Given the description of an element on the screen output the (x, y) to click on. 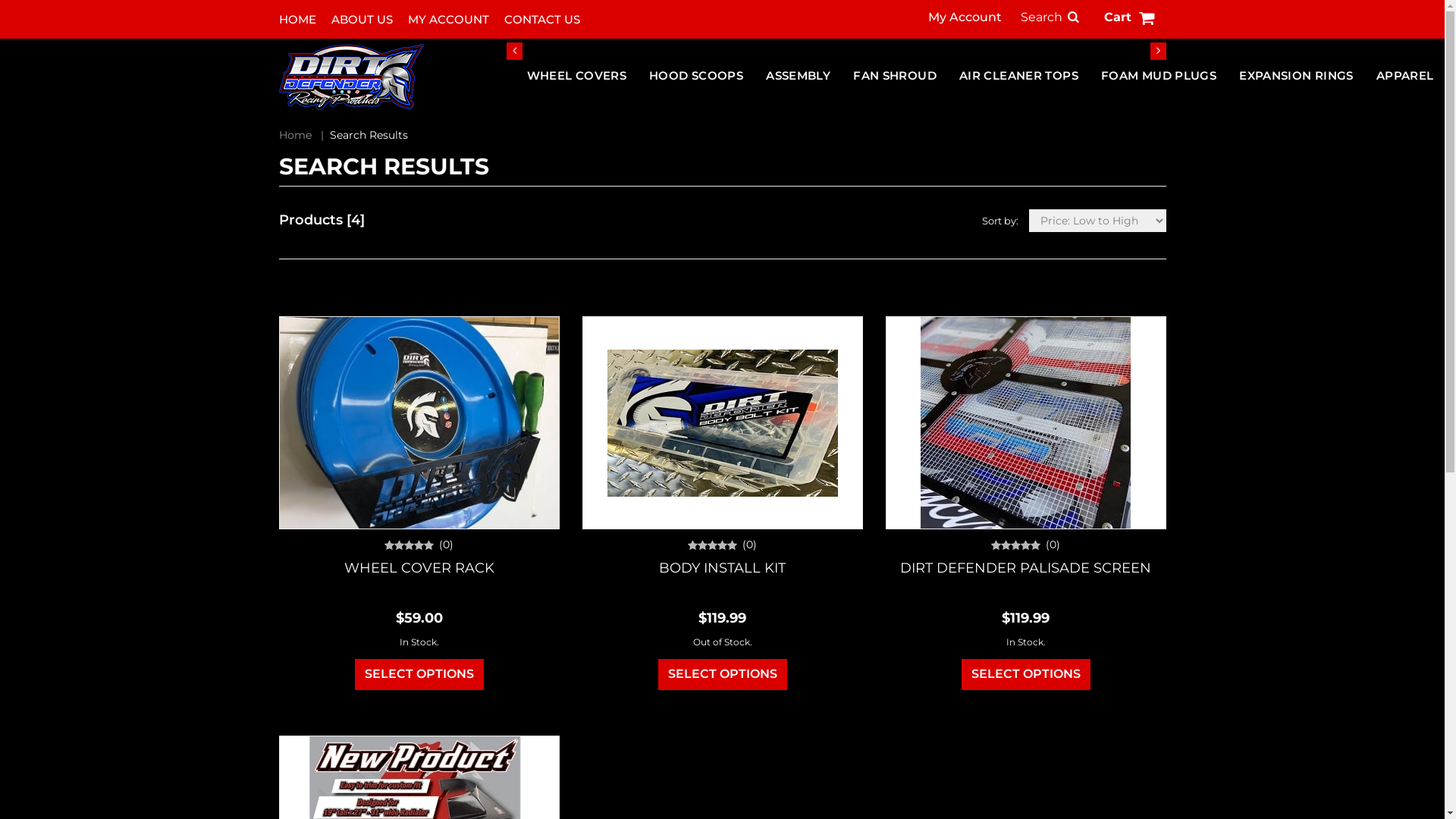
HOME Element type: text (297, 19)
My Account Element type: text (964, 16)
MY ACCOUNT Element type: text (448, 19)
FOAM MUD PLUGS Element type: text (1158, 75)
DIRT DEFENDER PALISADE SCREEN Element type: text (1025, 567)
WHEEL COVER RACK Element type: text (419, 567)
BODY INSTALL KIT Element type: text (721, 567)
WHEEL COVERS Element type: text (576, 75)
AIR CLEANER TOPS Element type: text (1018, 75)
HOOD SCOOPS Element type: text (695, 75)
ASSEMBLY Element type: text (797, 75)
Cart Element type: text (1131, 19)
Home Element type: text (295, 134)
Submit Element type: text (732, 208)
APPAREL Element type: text (1405, 75)
SELECT OPTIONS Element type: text (1025, 674)
SELECT OPTIONS Element type: text (418, 674)
SELECT OPTIONS Element type: text (722, 674)
ABOUT US Element type: text (361, 19)
EXPANSION RINGS Element type: text (1296, 75)
FAN SHROUD Element type: text (894, 75)
CONTACT US Element type: text (541, 19)
